Given the description of an element on the screen output the (x, y) to click on. 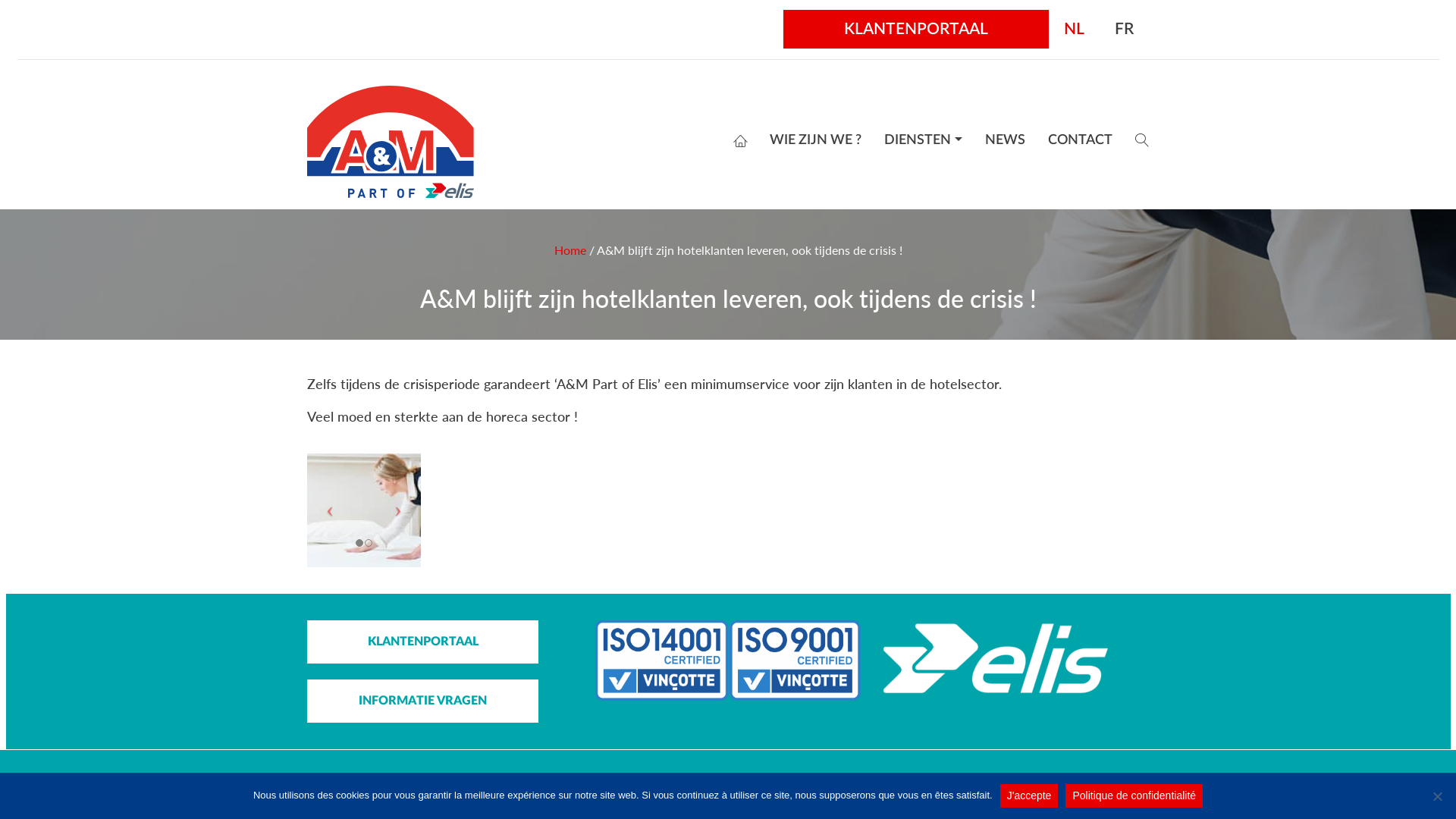
FR Element type: text (1123, 28)
Hospitality Hotel Element type: hover (363, 510)
DIENSTEN Element type: text (922, 140)
4 Element type: hover (250, 510)
abel-iso Element type: hover (727, 660)
CONTACT Element type: text (1079, 140)
NL Element type: text (1073, 28)
WIE ZIJN WE ? Element type: text (815, 140)
Logo_Elis_white Element type: hover (996, 658)
NEWS Element type: text (1004, 140)
INFORMATIE VRAGEN Element type: text (422, 700)
Home Element type: text (569, 249)
J'accepte Element type: text (1029, 795)
No Element type: hover (1436, 795)
KLANTENPORTAAL Element type: text (422, 641)
WEBDESIGN BY PRODUWEB Element type: text (862, 780)
KLANTENPORTAAL Element type: text (915, 28)
